Given the description of an element on the screen output the (x, y) to click on. 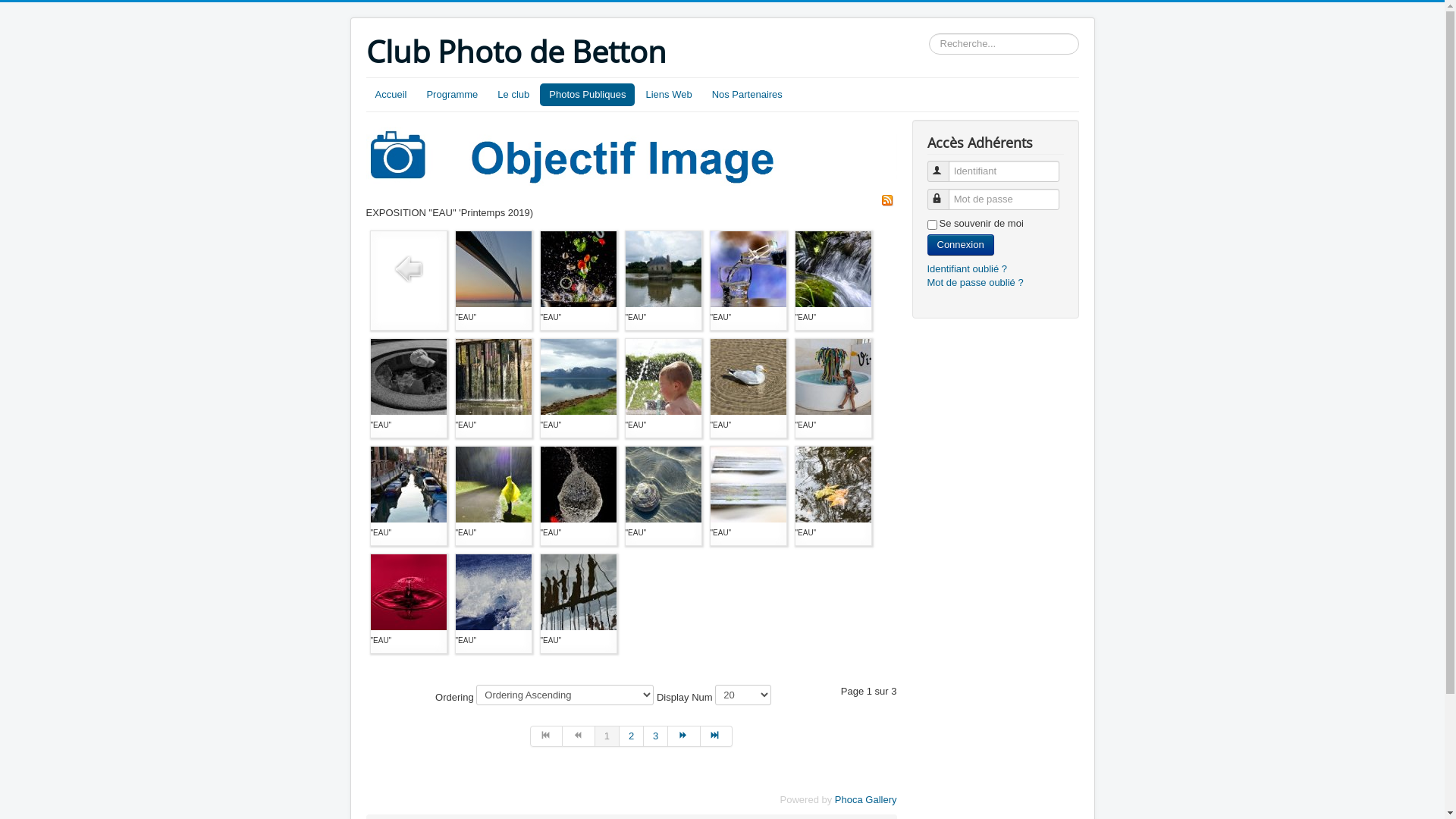
Le club Element type: text (513, 94)
2 Element type: text (631, 735)
1 Element type: text (607, 735)
Photos Publiques Element type: text (586, 94)
Nos Partenaires Element type: text (746, 94)
RSS Element type: hover (887, 198)
3 Element type: text (655, 735)
Fin Element type: hover (716, 735)
Suivant Element type: hover (683, 735)
Accueil Element type: text (390, 94)
Club Photo de Betton Element type: text (515, 51)
Connexion Element type: text (959, 244)
Liens Web Element type: text (668, 94)
Programme Element type: text (451, 94)
Phoca Gallery Element type: text (865, 799)
